Given the description of an element on the screen output the (x, y) to click on. 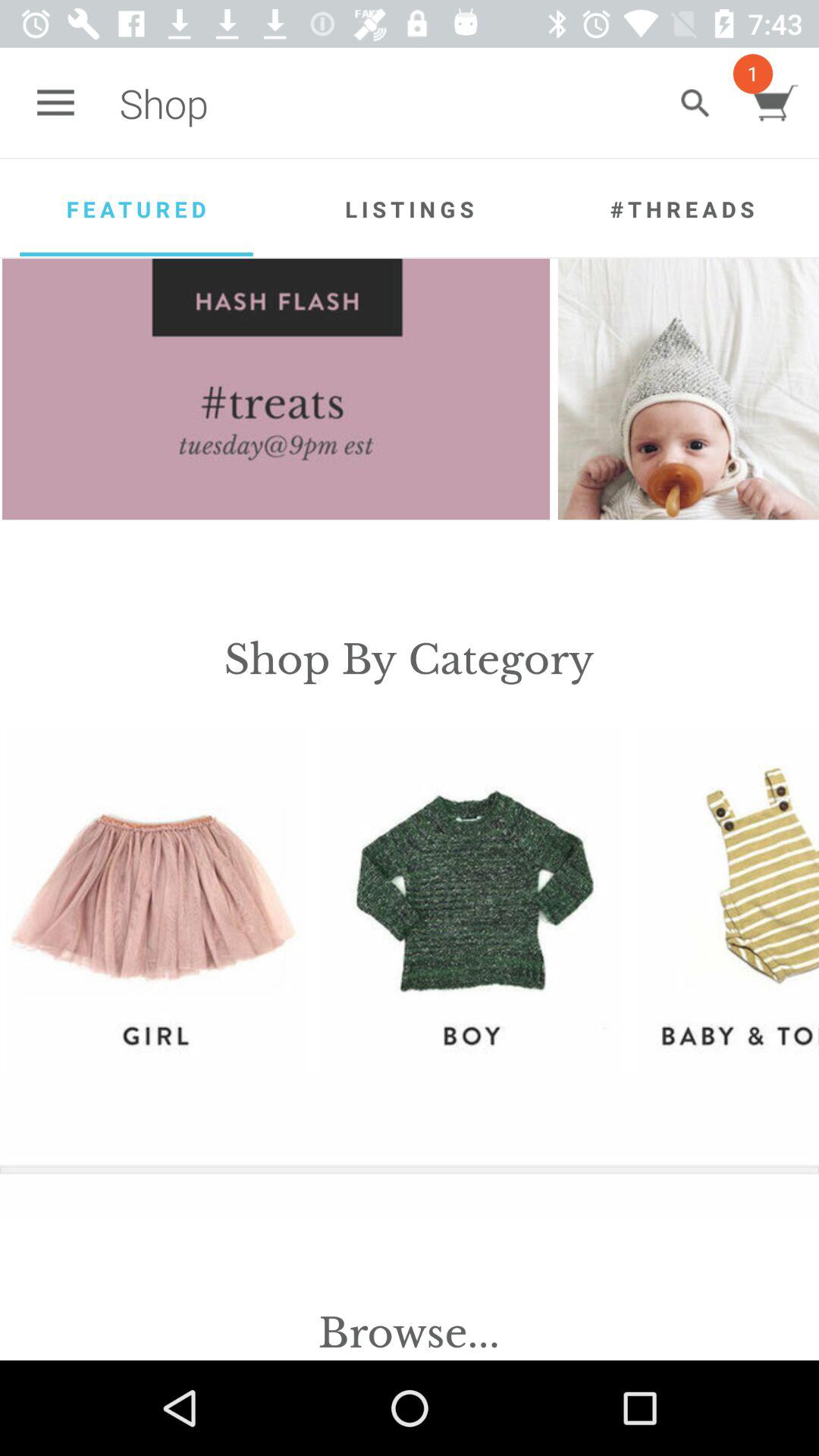
dress (727, 899)
